Given the description of an element on the screen output the (x, y) to click on. 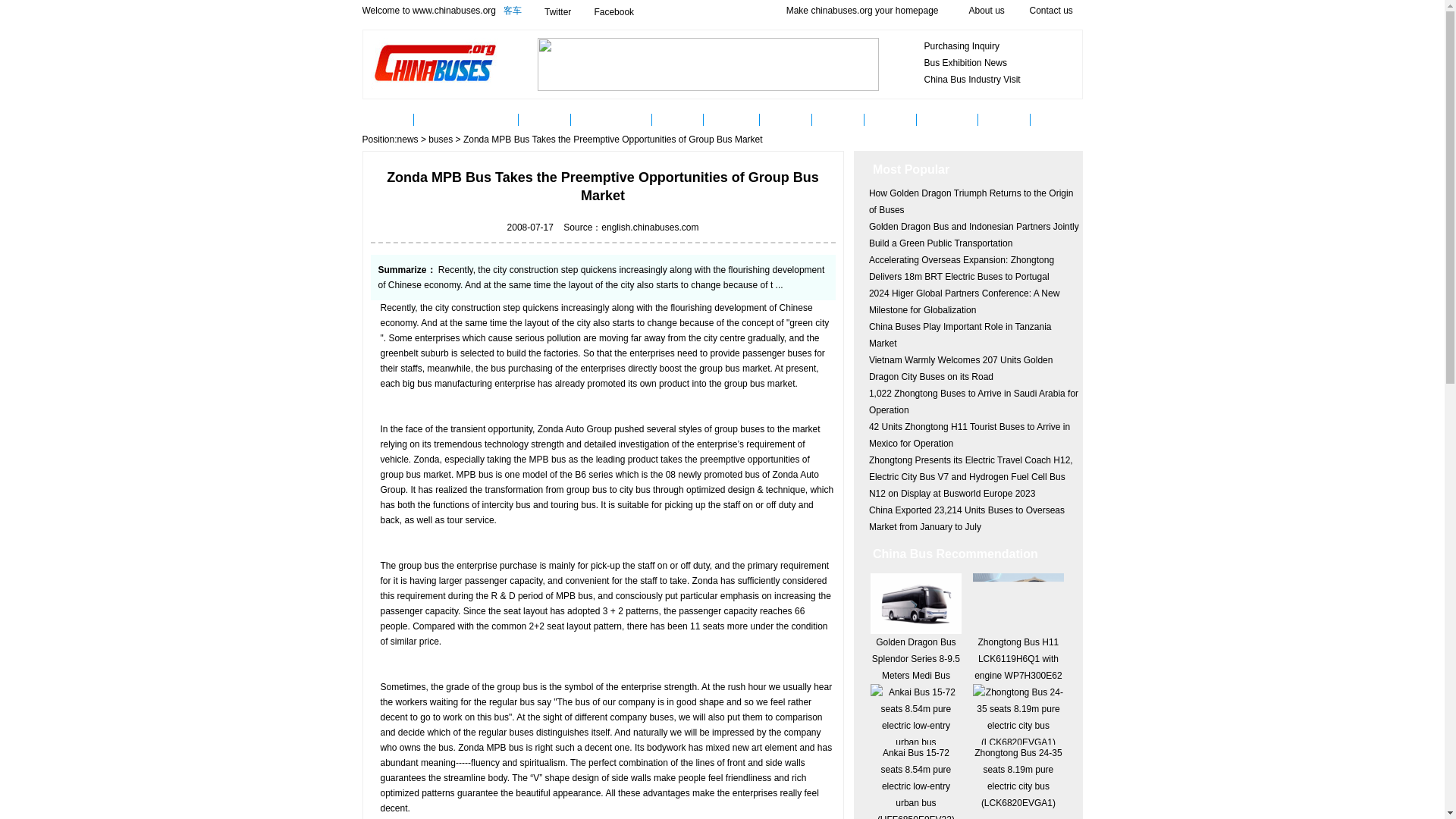
China Bus Parts Suppliers (731, 119)
Suppliers (731, 119)
Video (678, 119)
China bus news (439, 119)
Mycountry (947, 119)
About us (986, 9)
China bus builders (610, 119)
Analyst (838, 119)
Purchasing Inquiry (960, 45)
VAN (1056, 119)
